Given the description of an element on the screen output the (x, y) to click on. 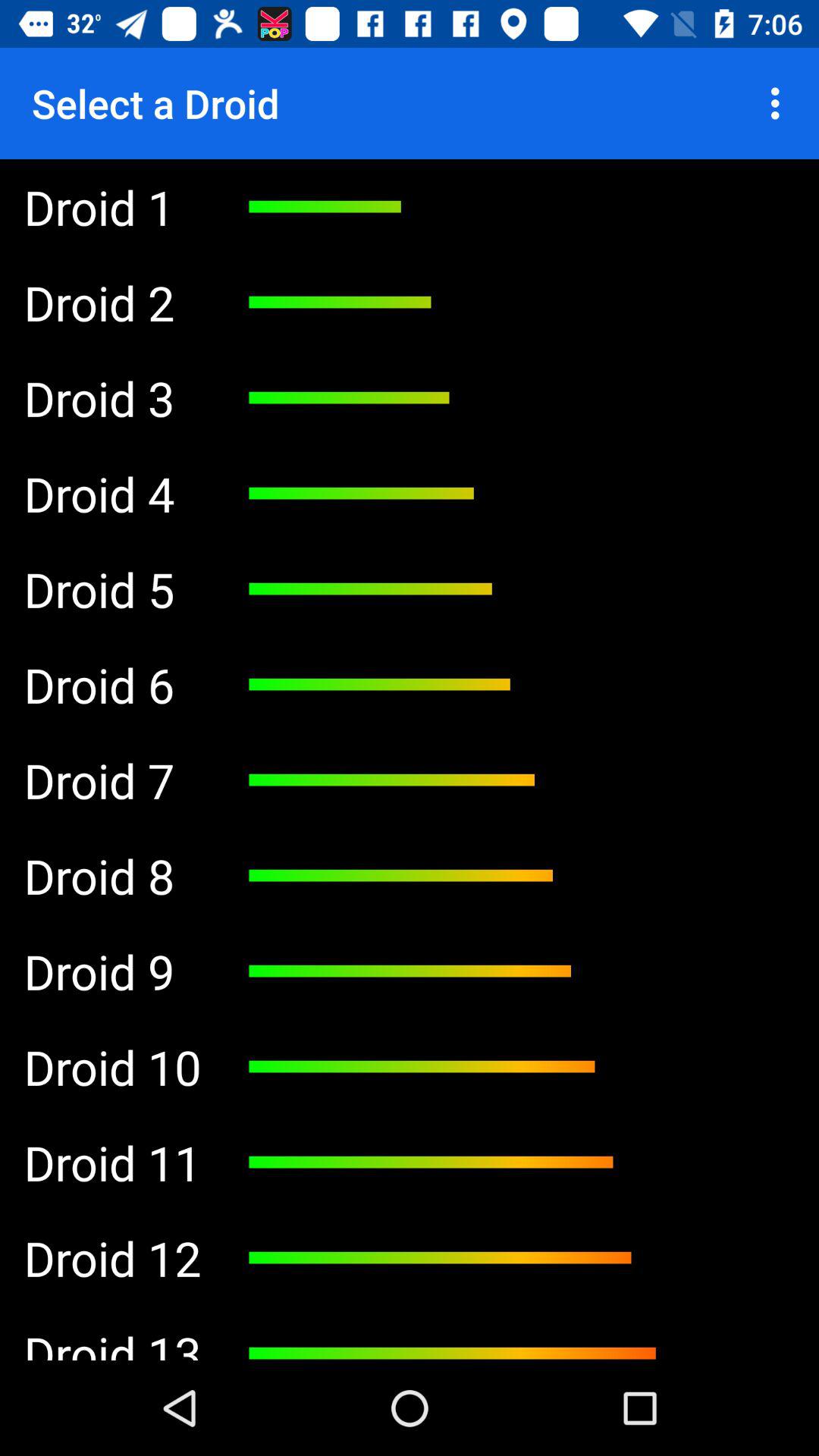
tap the app above the droid 20 icon (112, 1162)
